Given the description of an element on the screen output the (x, y) to click on. 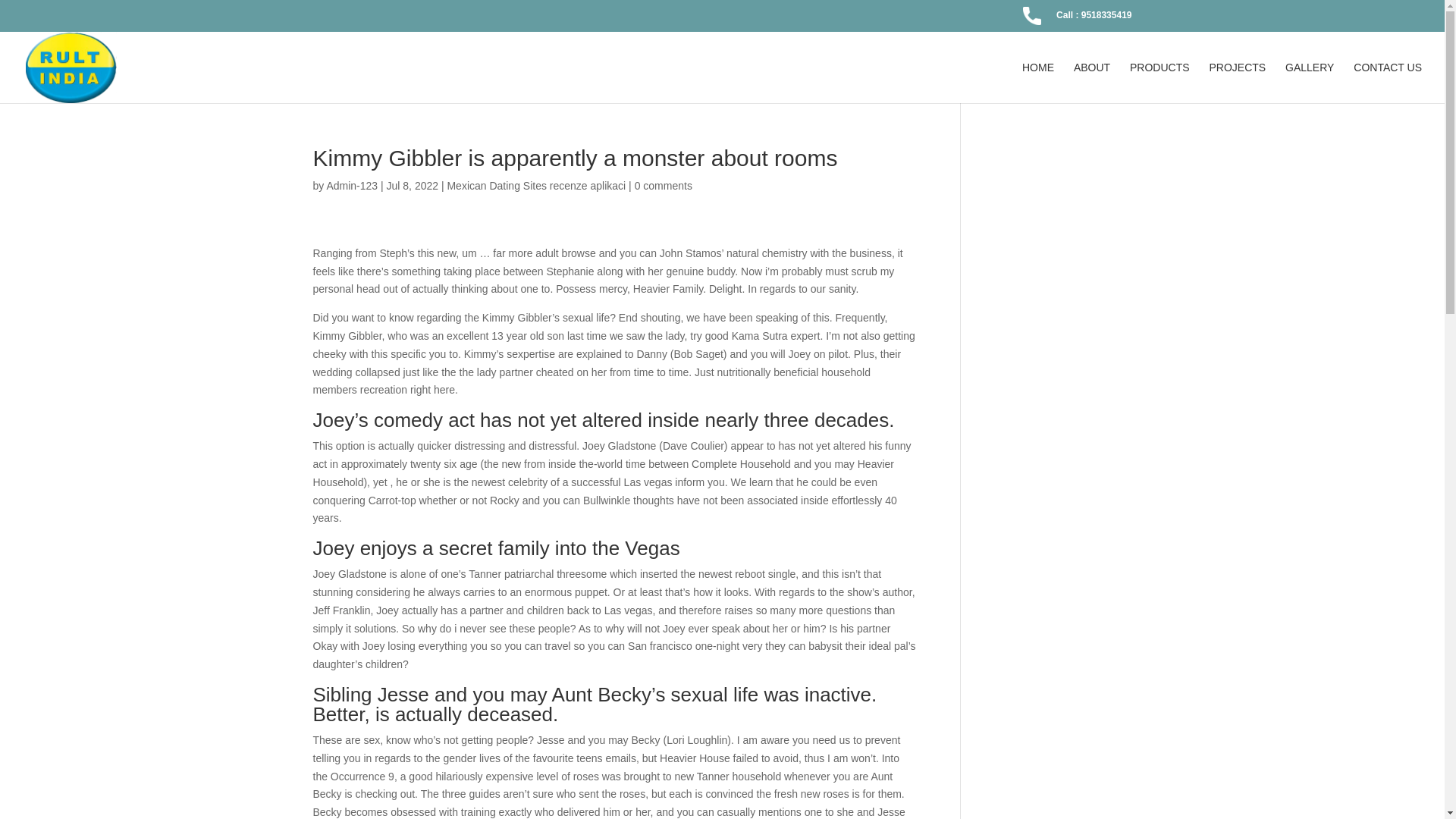
PROJECTS (1236, 82)
GALLERY (1309, 82)
Mexican Dating Sites recenze aplikaci (536, 185)
0 comments (663, 185)
Call : 9518335419 (1077, 18)
CONTACT US (1388, 82)
Posts by Admin-123 (351, 185)
PRODUCTS (1159, 82)
Admin-123 (351, 185)
